Given the description of an element on the screen output the (x, y) to click on. 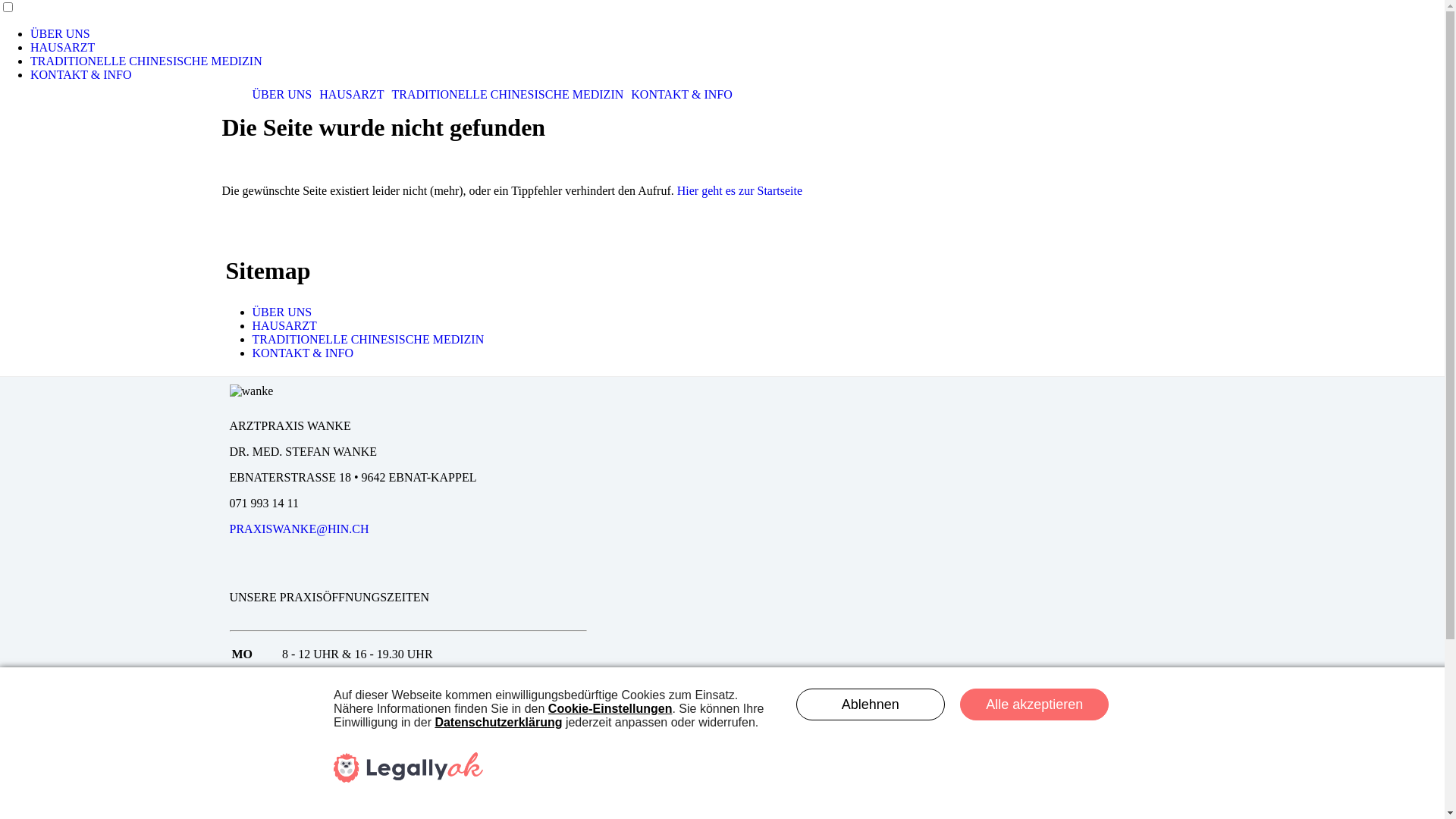
TRADITIONELLE CHINESISCHE MEDIZIN Element type: text (146, 60)
Hier geht es zur Startseite Element type: text (739, 190)
TRADITIONELLE CHINESISCHE MEDIZIN Element type: text (508, 93)
HAUSARZT Element type: text (283, 325)
KONTAKT & INFO Element type: text (302, 352)
HAUSARZT Element type: text (351, 93)
KONTAKT & INFO Element type: text (681, 93)
PRAXISWANKE@HIN.CH Element type: text (298, 528)
KONTAKT & INFO Element type: text (80, 74)
TRADITIONELLE CHINESISCHE MEDIZIN Element type: text (367, 338)
HAUSARZT Element type: text (62, 46)
